Given the description of an element on the screen output the (x, y) to click on. 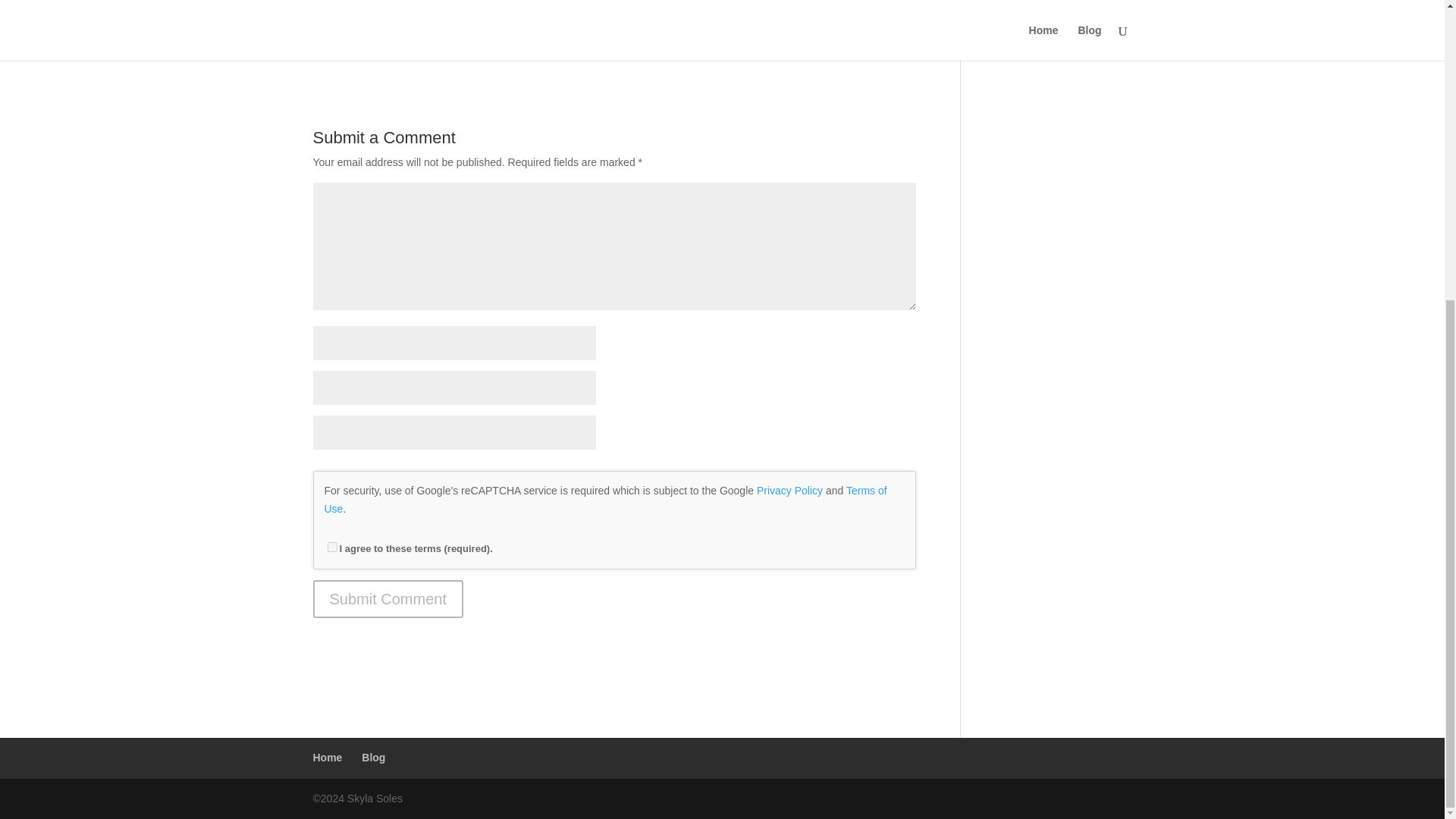
on (332, 547)
Privacy Policy (789, 490)
Sufficient Grace (534, 39)
Submit Comment (388, 598)
Home (327, 757)
Terms of Use (605, 499)
Submit Comment (388, 598)
Blog (373, 757)
